Given the description of an element on the screen output the (x, y) to click on. 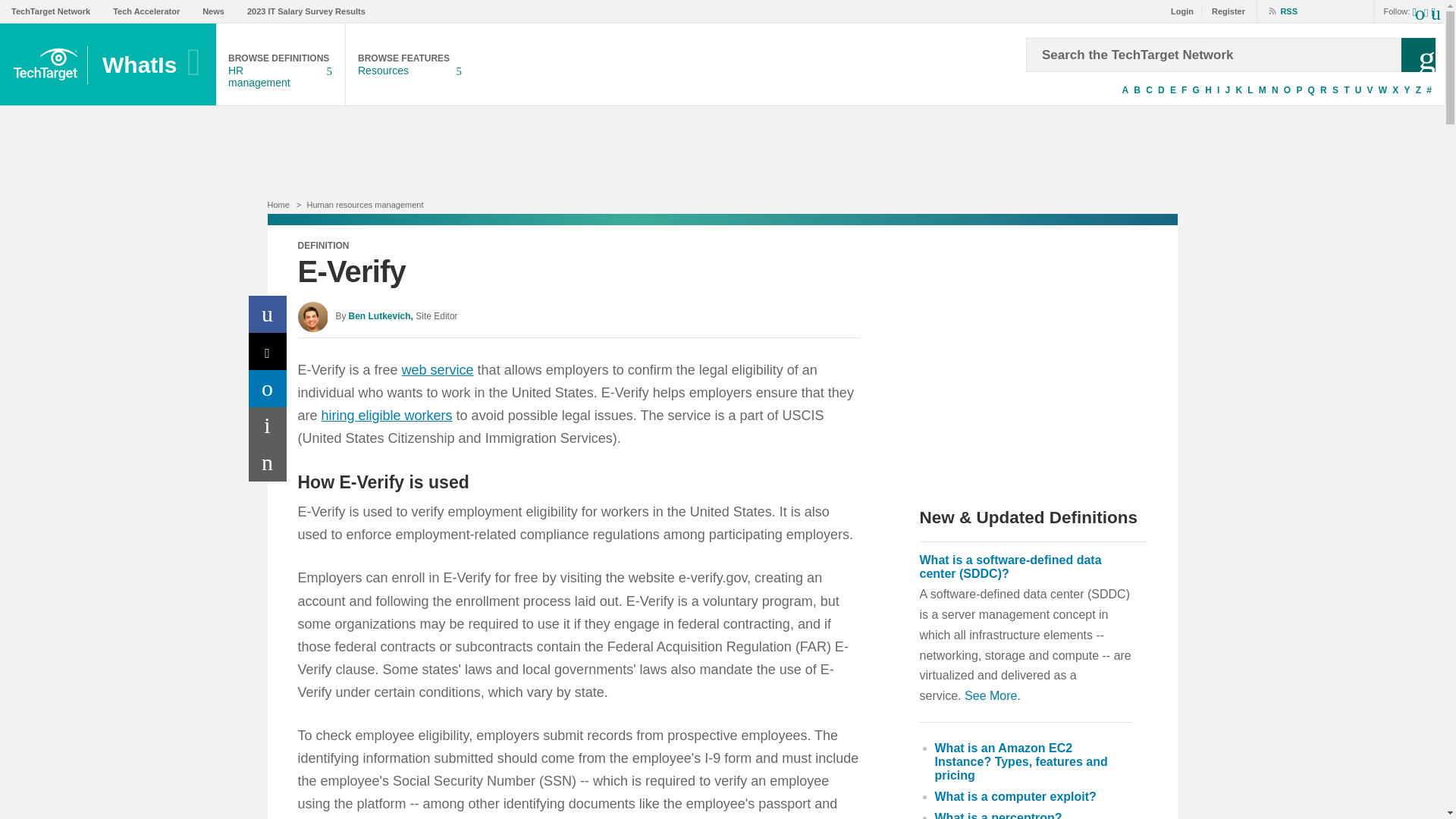
RSS (1277, 10)
Register (1224, 10)
Q (1310, 90)
WhatIs (152, 64)
Share on LinkedIn (267, 388)
Share on X (280, 64)
B (267, 351)
Print This Page (1136, 90)
M (267, 425)
TechTarget Network (1261, 90)
Share on Facebook (50, 10)
News (267, 313)
O (213, 10)
Login (1287, 90)
